Given the description of an element on the screen output the (x, y) to click on. 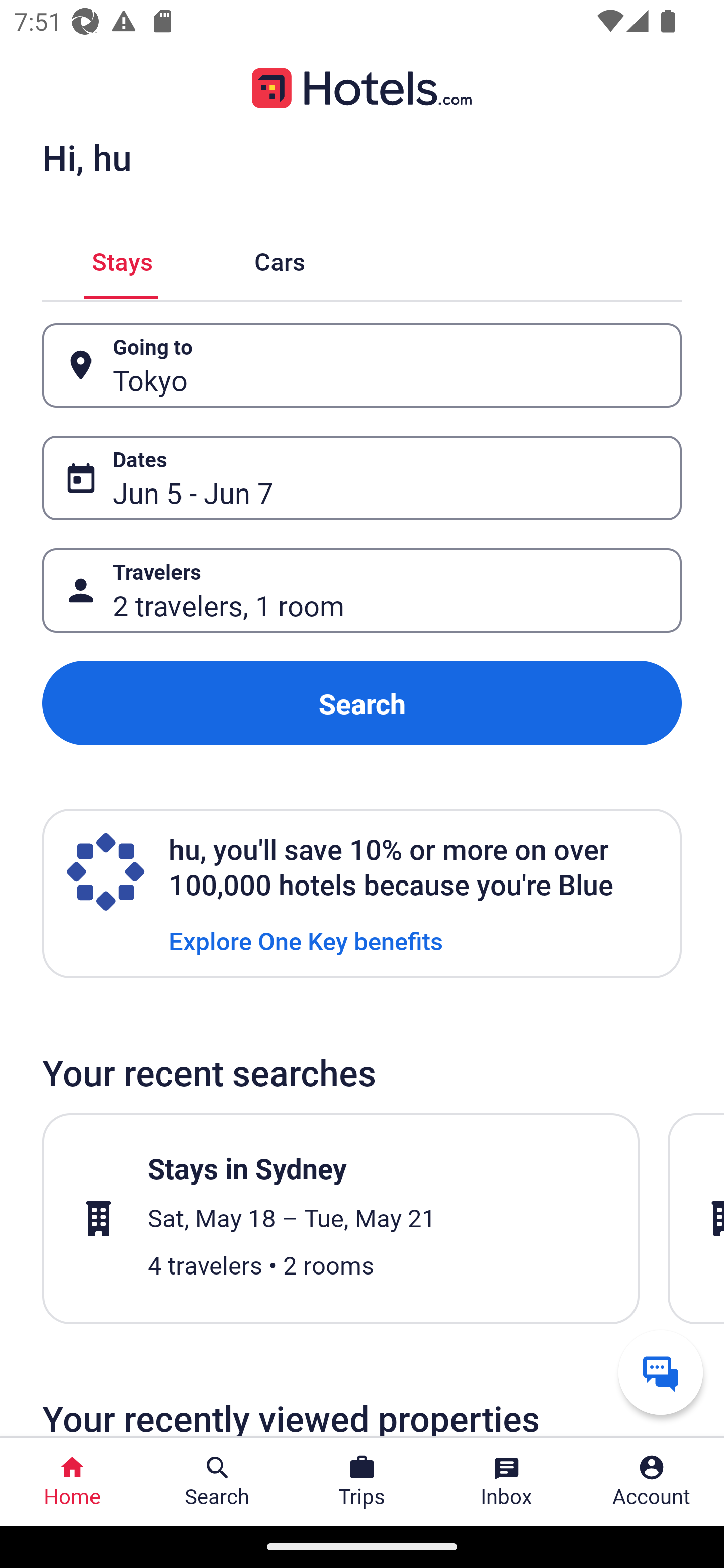
Hi, hu (86, 156)
Cars (279, 259)
Going to Button Tokyo (361, 365)
Dates Button Jun 5 - Jun 7 (361, 477)
Travelers Button 2 travelers, 1 room (361, 590)
Search (361, 702)
Get help from a virtual agent (660, 1371)
Search Search Button (216, 1481)
Trips Trips Button (361, 1481)
Inbox Inbox Button (506, 1481)
Account Profile. Button (651, 1481)
